Given the description of an element on the screen output the (x, y) to click on. 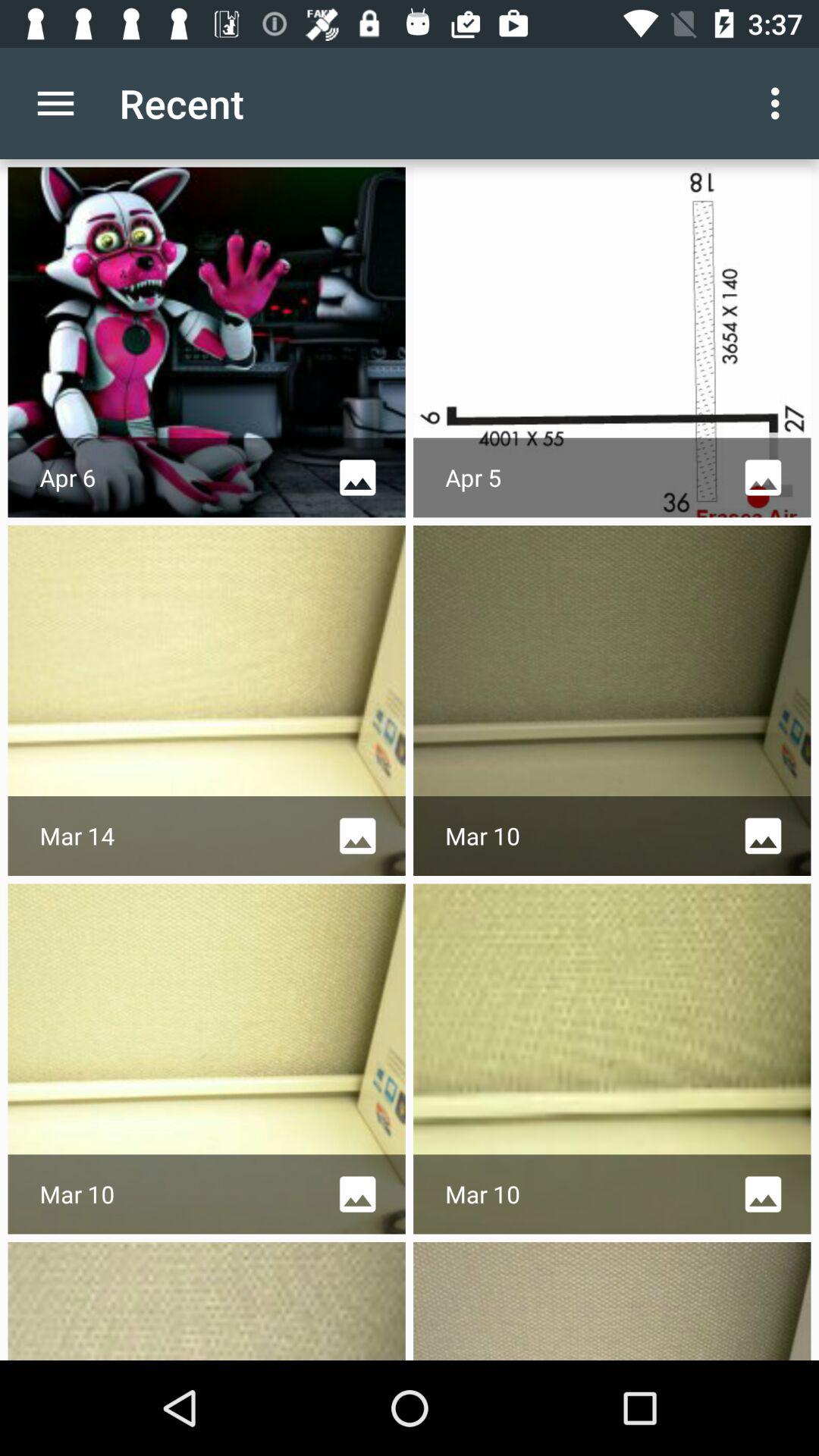
turn on the icon to the left of the recent (55, 103)
